Given the description of an element on the screen output the (x, y) to click on. 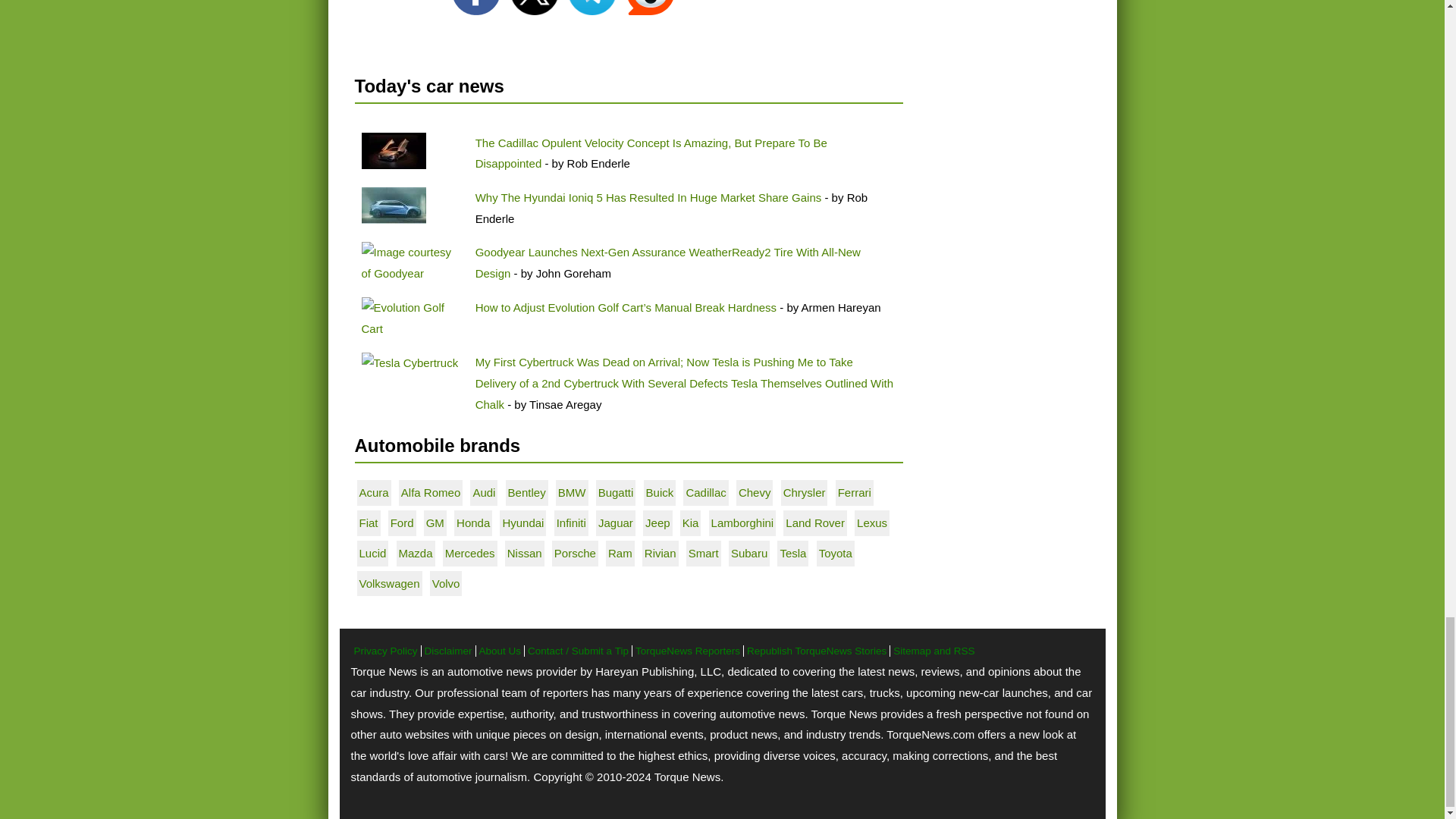
Acura (373, 492)
BMW (571, 492)
Hyundai Ioniq 5 (393, 205)
Bentley (527, 492)
Image courtesy of Goodyear (411, 262)
How to adjust golf cart's brake hardness (411, 318)
